Given the description of an element on the screen output the (x, y) to click on. 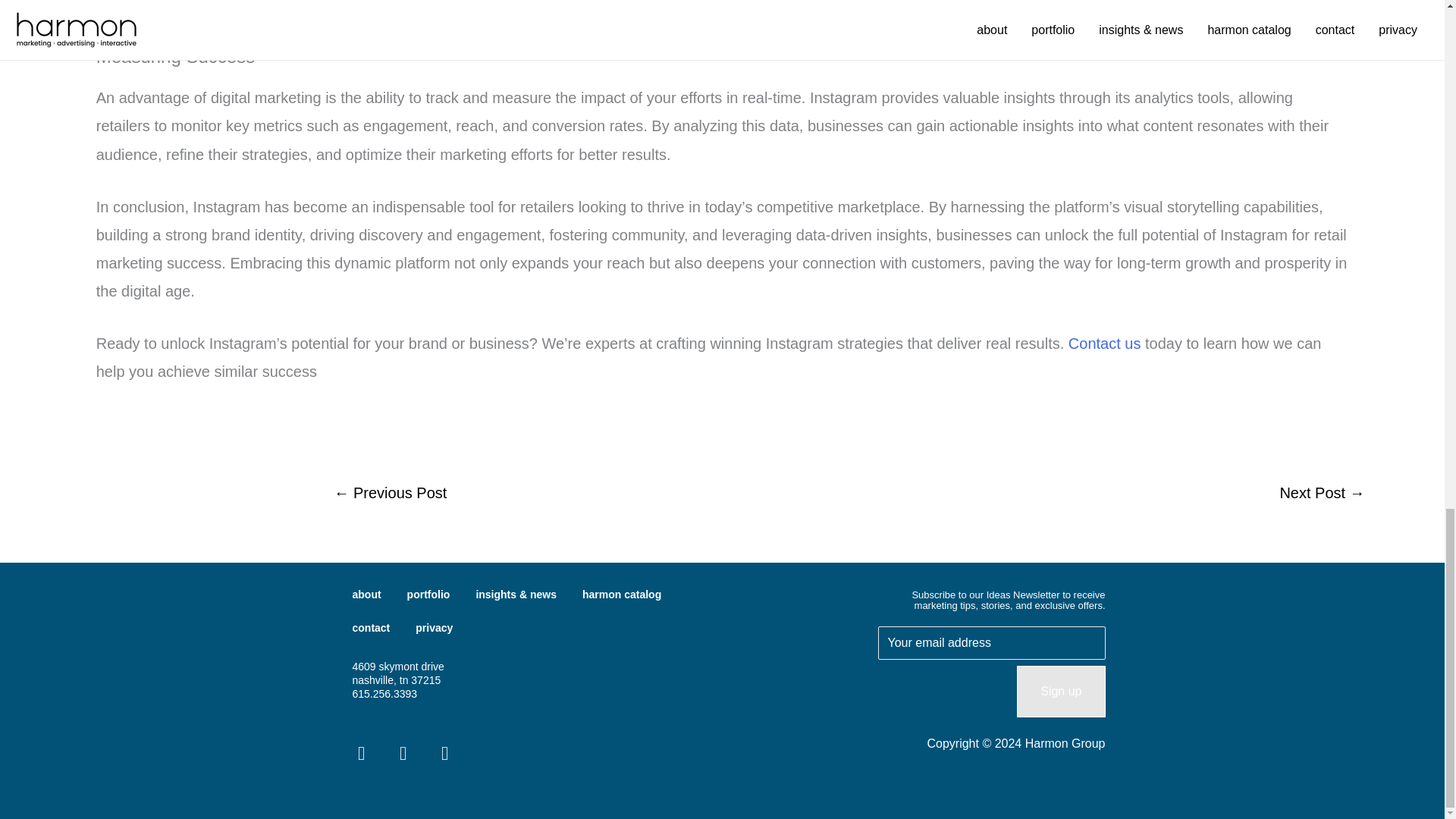
Contact us (1104, 343)
contact (371, 627)
privacy (434, 627)
portfolio (428, 594)
Sign up (1060, 691)
Sign up (1060, 691)
harmon catalog (621, 594)
about (366, 594)
